Given the description of an element on the screen output the (x, y) to click on. 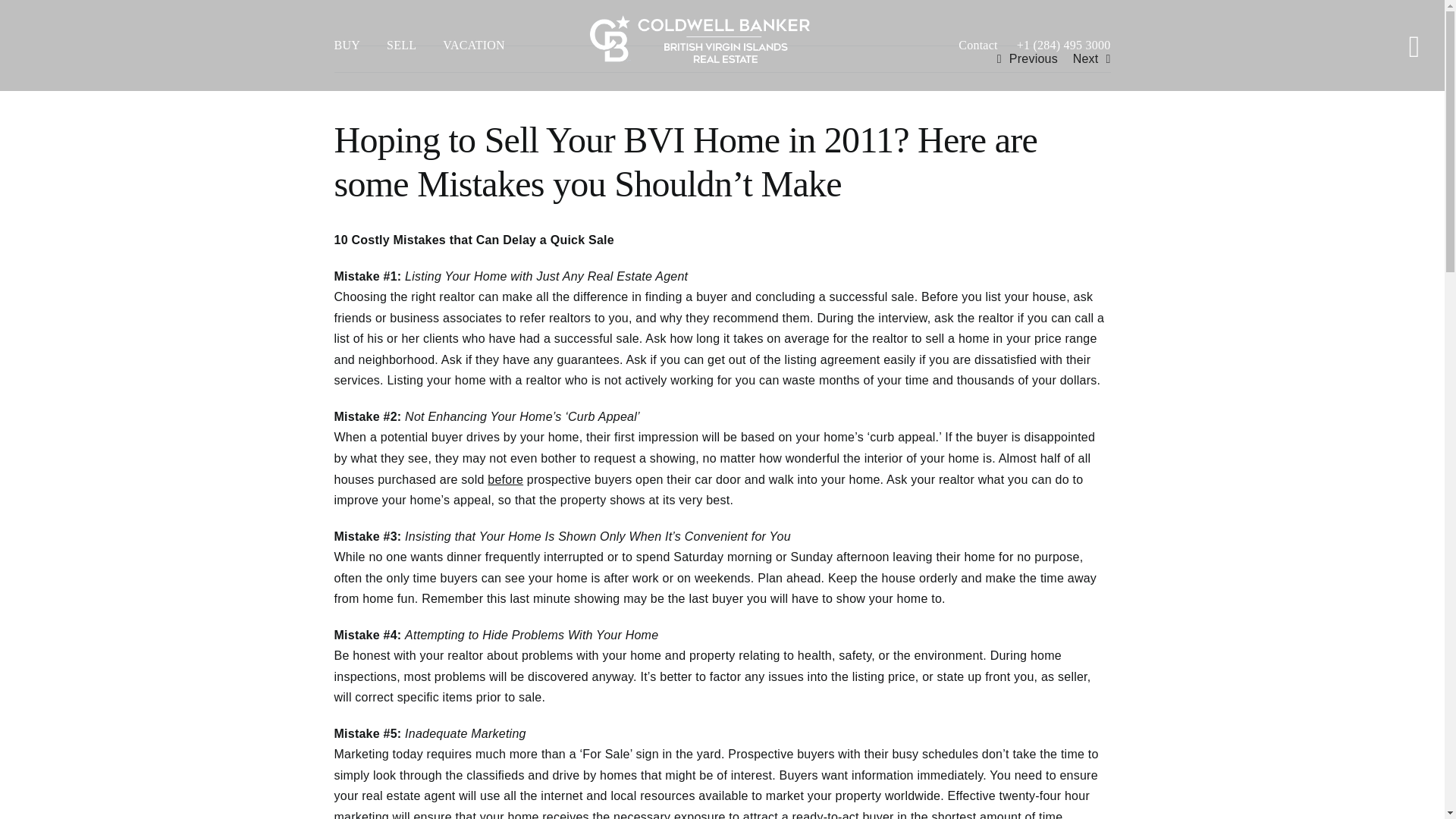
Next (1086, 58)
VACATION (486, 45)
Previous (1033, 58)
